Given the description of an element on the screen output the (x, y) to click on. 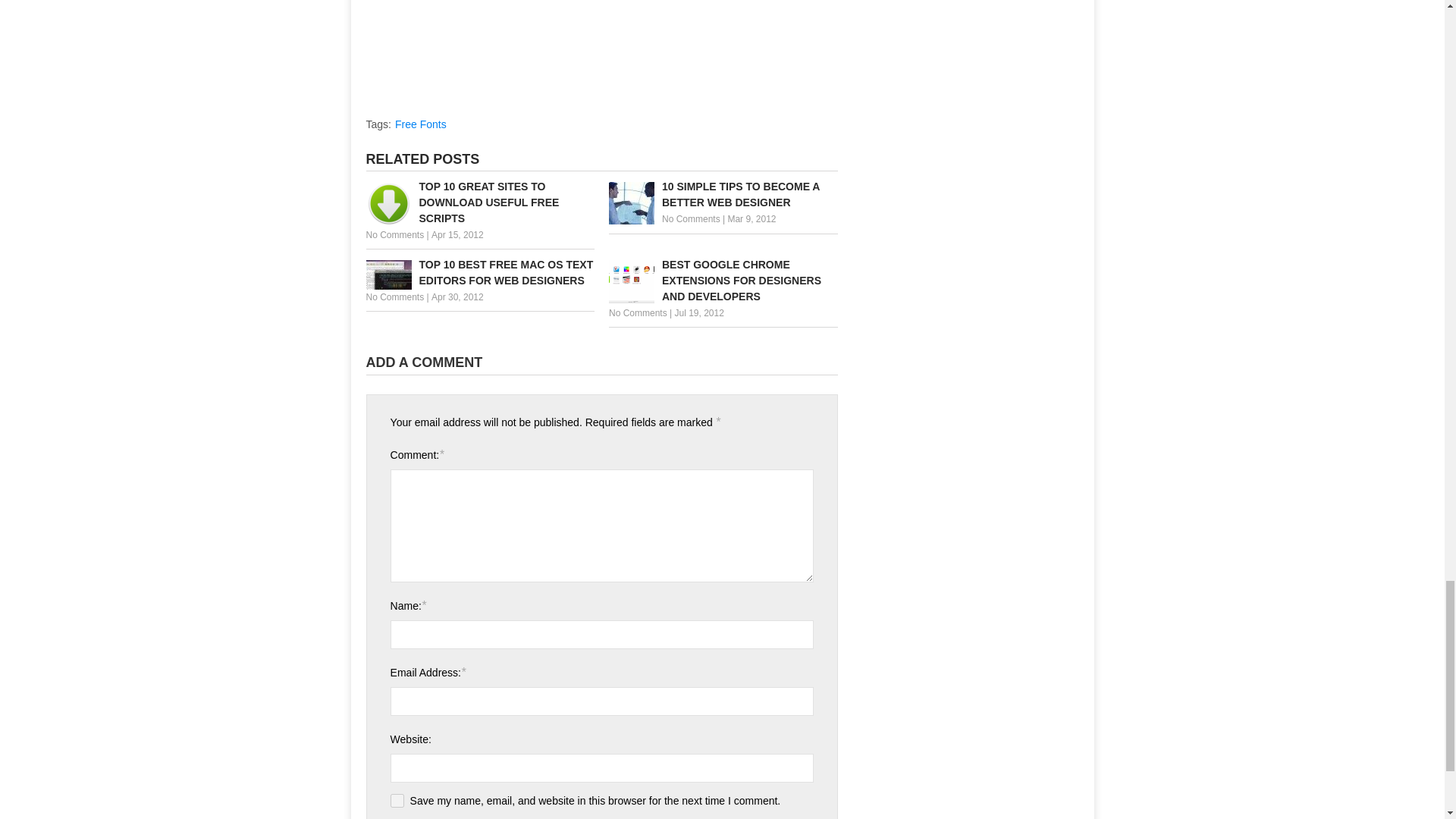
yes (397, 800)
Top 10 Great Sites To Download Useful Free Scripts (479, 202)
TOP 10 GREAT SITES TO DOWNLOAD USEFUL FREE SCRIPTS (479, 202)
Free Fonts (420, 123)
No Comments (394, 235)
Top 10 Best Free Mac OS Text Editors For Web Designers (479, 273)
10 Simple Tips To Become A Better Web Designer (723, 194)
Advertisement (492, 49)
Best Google Chrome Extensions For Designers and Developers (723, 280)
10 SIMPLE TIPS TO BECOME A BETTER WEB DESIGNER (723, 194)
